Given the description of an element on the screen output the (x, y) to click on. 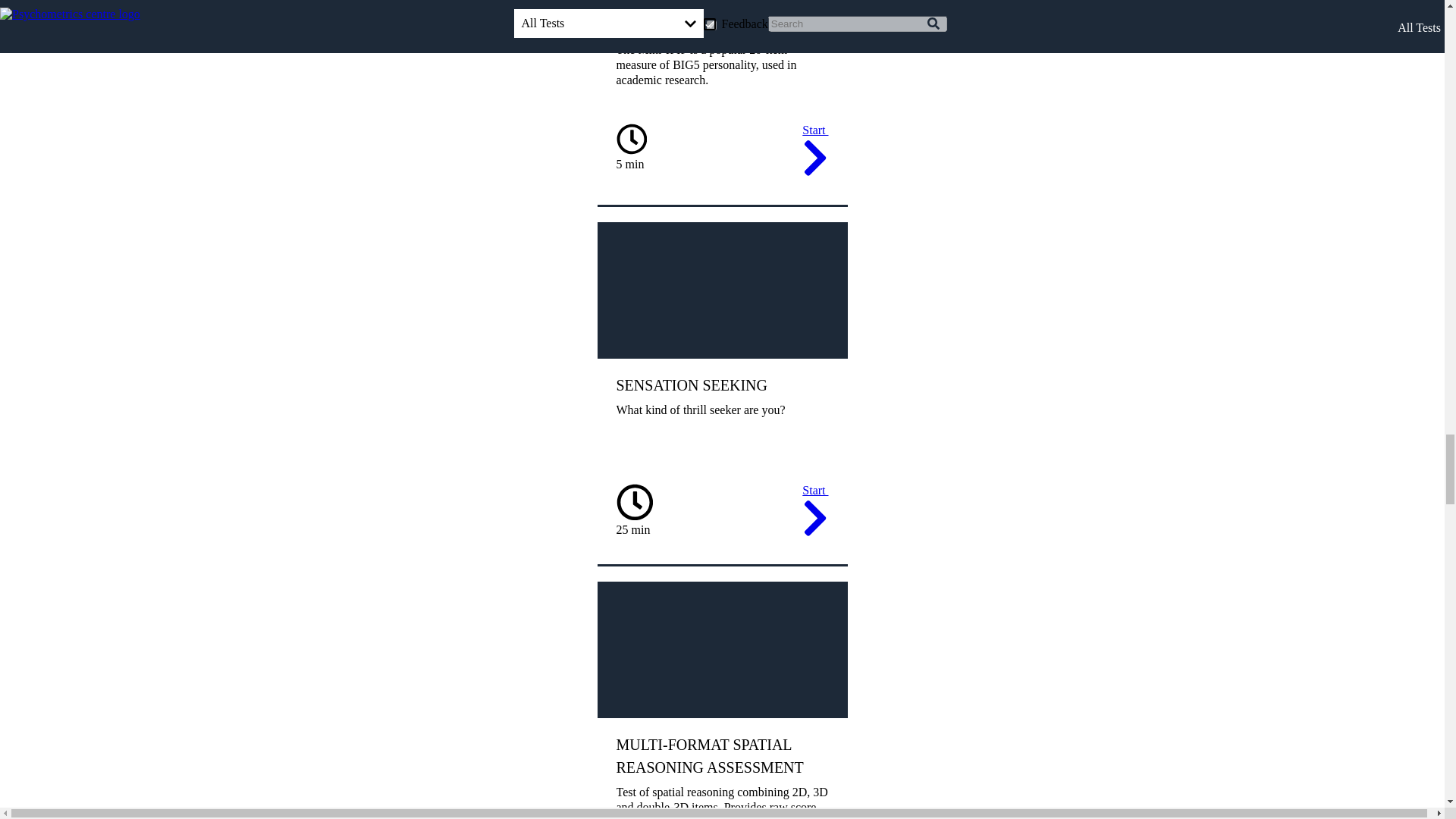
Start  (815, 513)
Start  (815, 152)
